Given the description of an element on the screen output the (x, y) to click on. 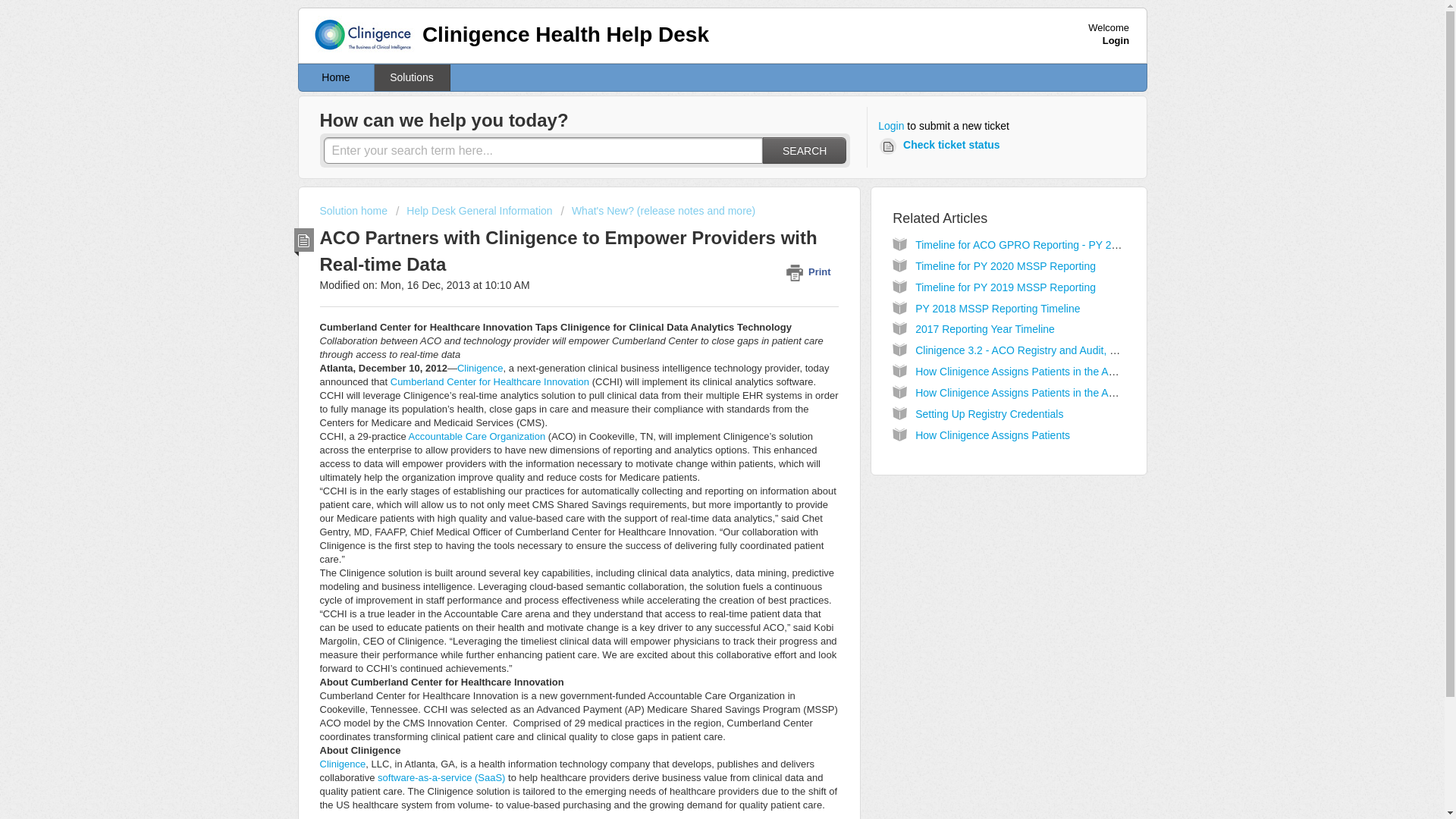
Help Desk General Information (474, 210)
Clinigence (480, 367)
2017 Reporting Year Timeline (984, 328)
Login (1115, 40)
Check ticket status (941, 146)
Cumberland Center for Healthcare Innovation (489, 381)
Setting Up Registry Credentials (988, 413)
Timeline for PY 2019 MSSP Reporting (1005, 287)
Print (812, 271)
How Clinigence Assigns Patients (992, 435)
How Clinigence Assigns Patients in the ACO Registry (1040, 392)
PY 2018 MSSP Reporting Timeline (997, 308)
Print this Article (812, 271)
Check ticket status (941, 146)
Login (890, 126)
